Given the description of an element on the screen output the (x, y) to click on. 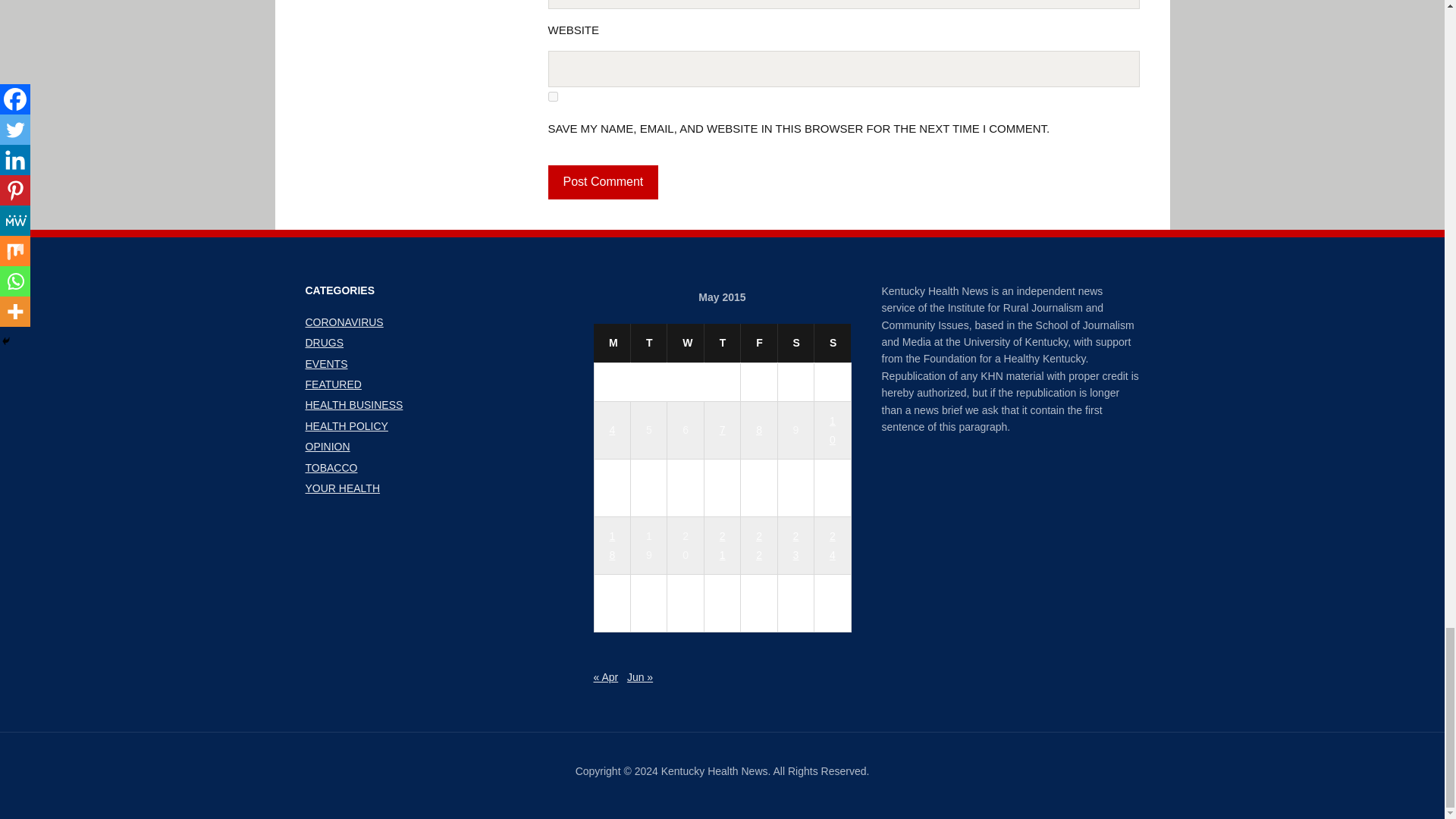
Post Comment (602, 182)
yes (552, 96)
